Given the description of an element on the screen output the (x, y) to click on. 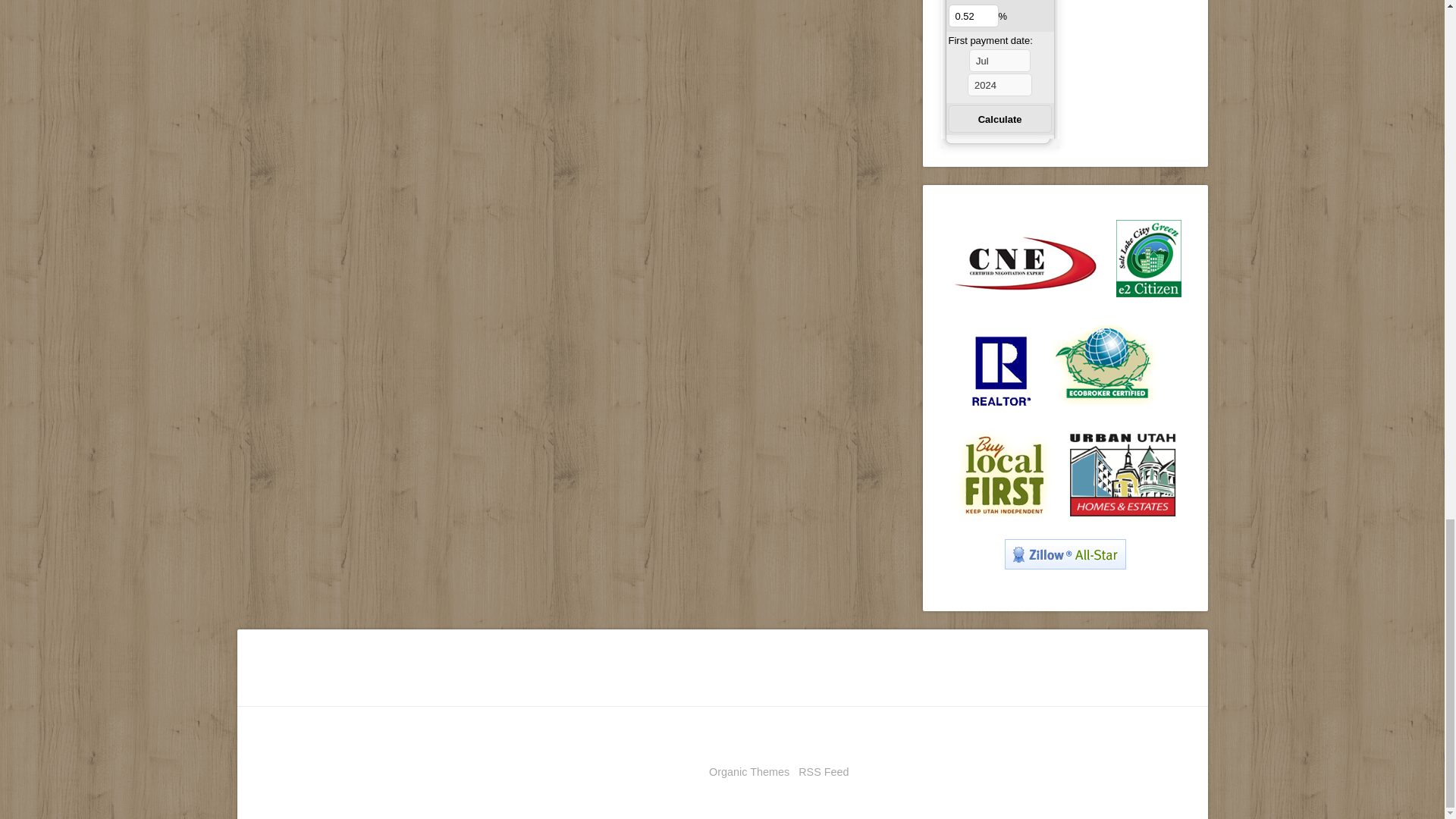
0.52 (972, 15)
Calculate (999, 118)
